Given the description of an element on the screen output the (x, y) to click on. 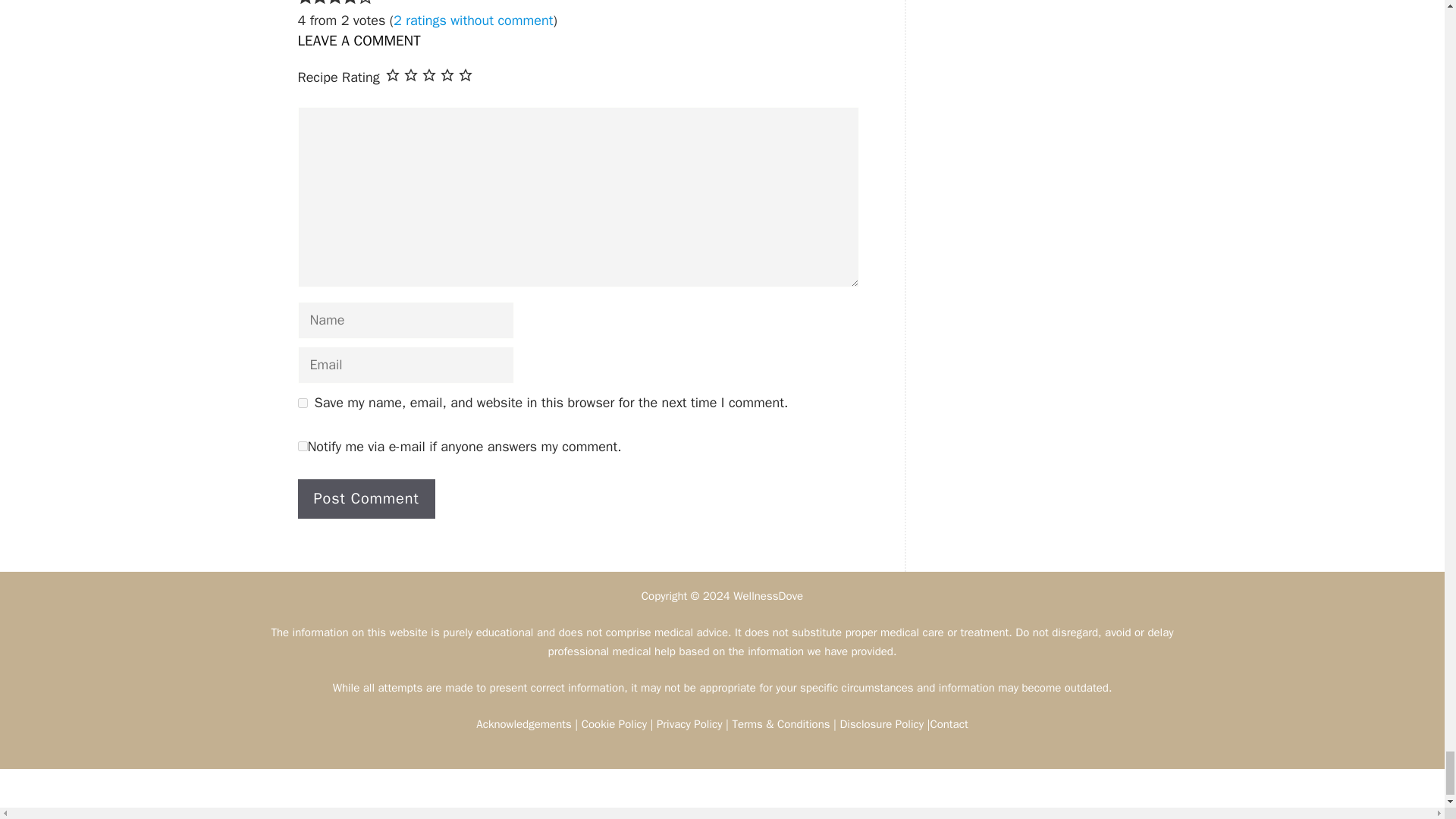
on (302, 446)
yes (302, 402)
Post Comment (365, 498)
